Given the description of an element on the screen output the (x, y) to click on. 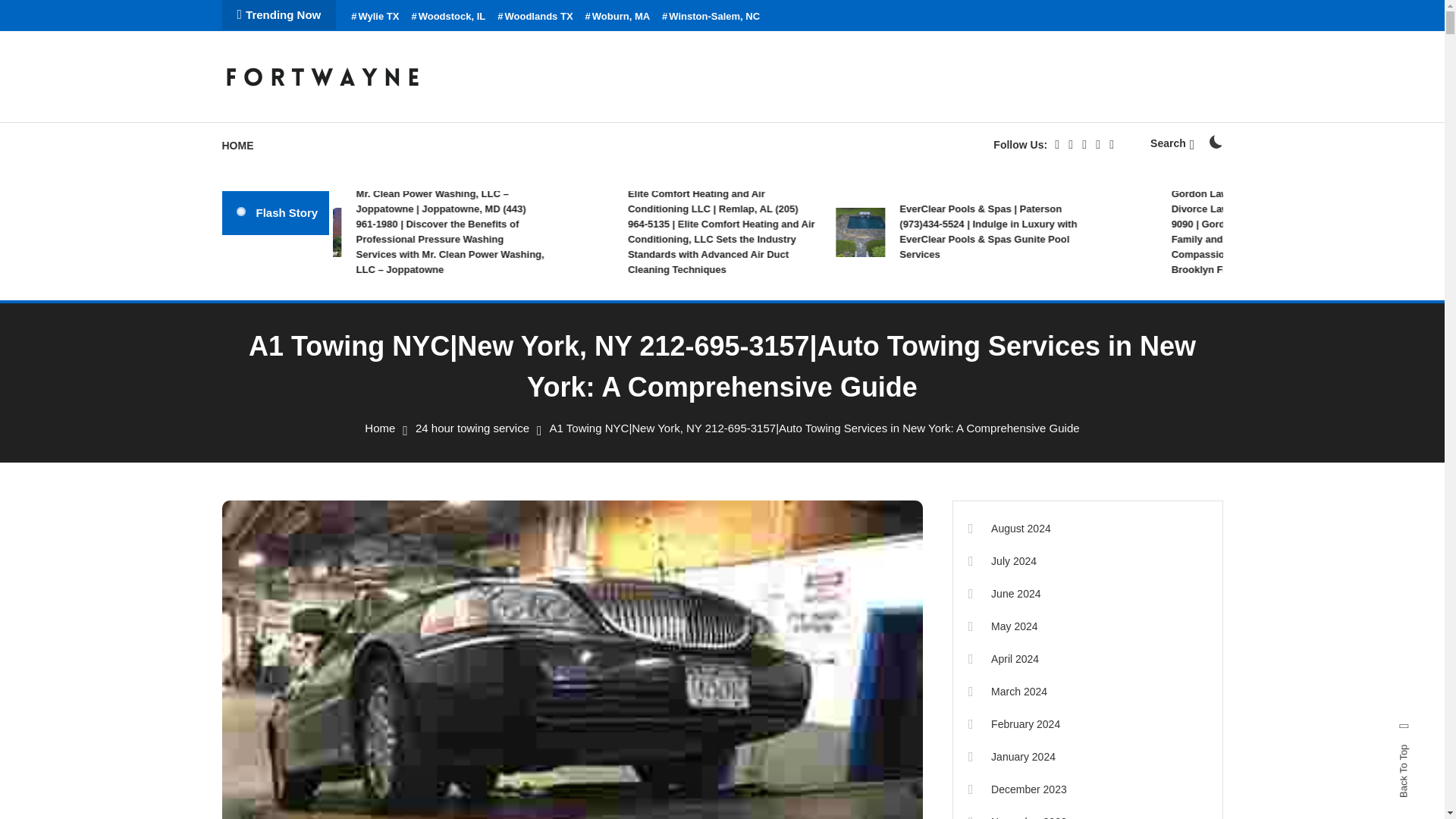
Search (768, 434)
Woodlands TX (534, 16)
Home (379, 427)
Woodstock, IL (447, 16)
24 hour towing service (471, 427)
Woburn, MA (617, 16)
Search (1171, 143)
Wylie TX (374, 16)
on (1215, 141)
Winston-Salem, NC (711, 16)
